Given the description of an element on the screen output the (x, y) to click on. 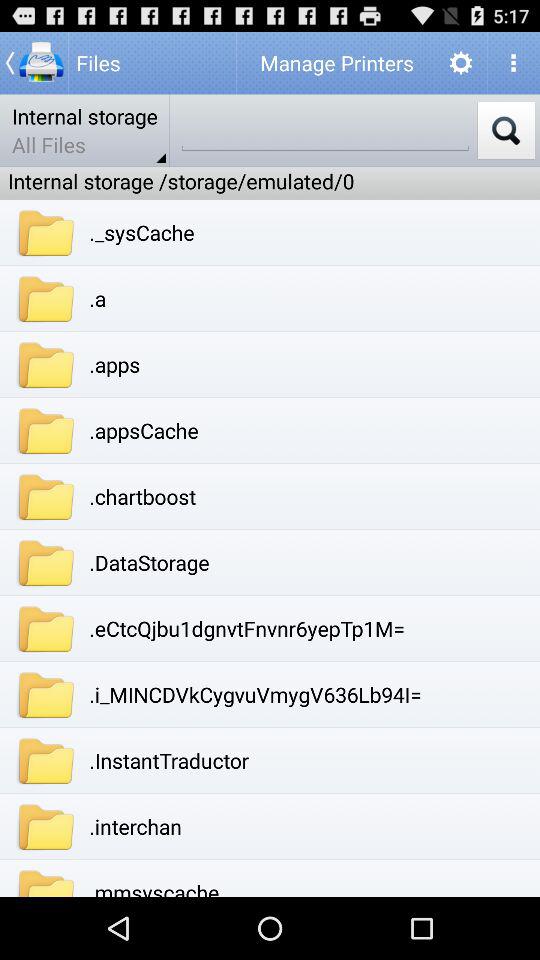
choose the icon above .appscache icon (114, 364)
